Given the description of an element on the screen output the (x, y) to click on. 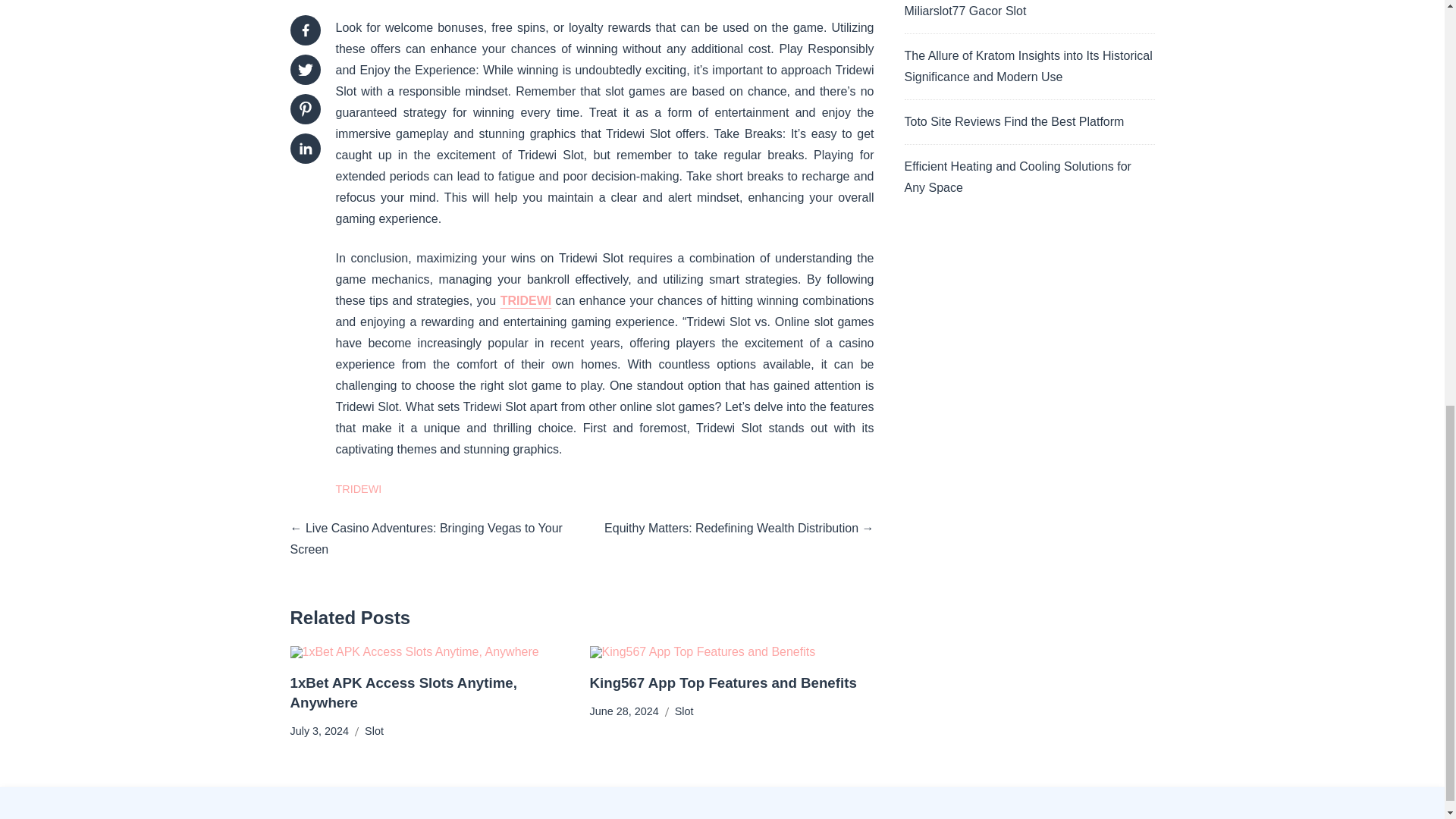
July 3, 2024 (319, 731)
King567 App Top Features and Benefits (723, 682)
1xBet APK Access Slots Anytime, Anywhere (402, 692)
TRIDEWI (357, 488)
Betting Smart: Tips for Success with Miliarslot77 Gacor Slot (1000, 8)
Slot (684, 711)
June 28, 2024 (624, 711)
TRIDEWI (525, 300)
Slot (374, 731)
